Given the description of an element on the screen output the (x, y) to click on. 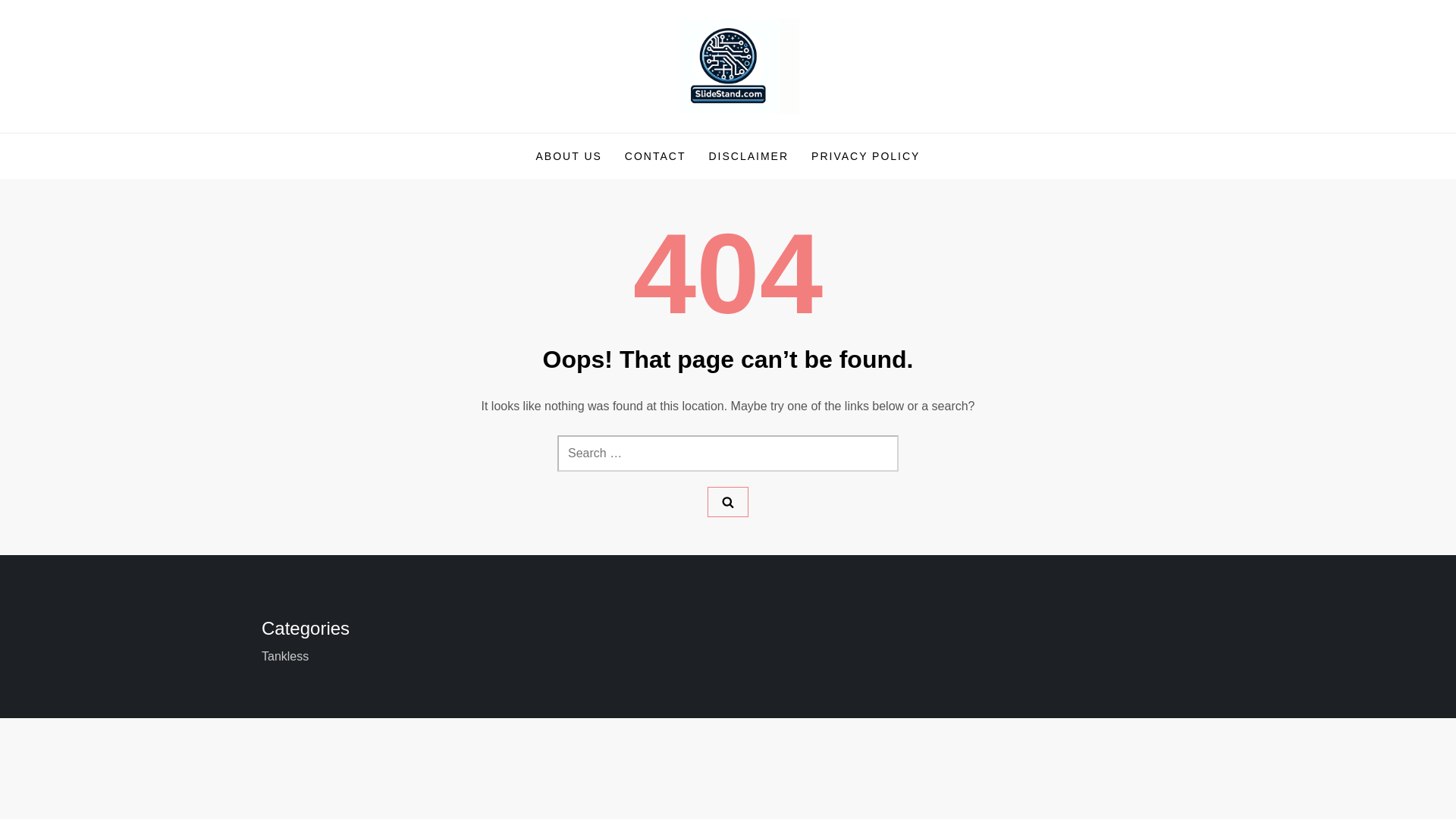
SlideStand (334, 131)
Tankless (285, 656)
ABOUT US (568, 156)
Search (727, 501)
CONTACT (654, 156)
DISCLAIMER (748, 156)
PRIVACY POLICY (865, 156)
